Given the description of an element on the screen output the (x, y) to click on. 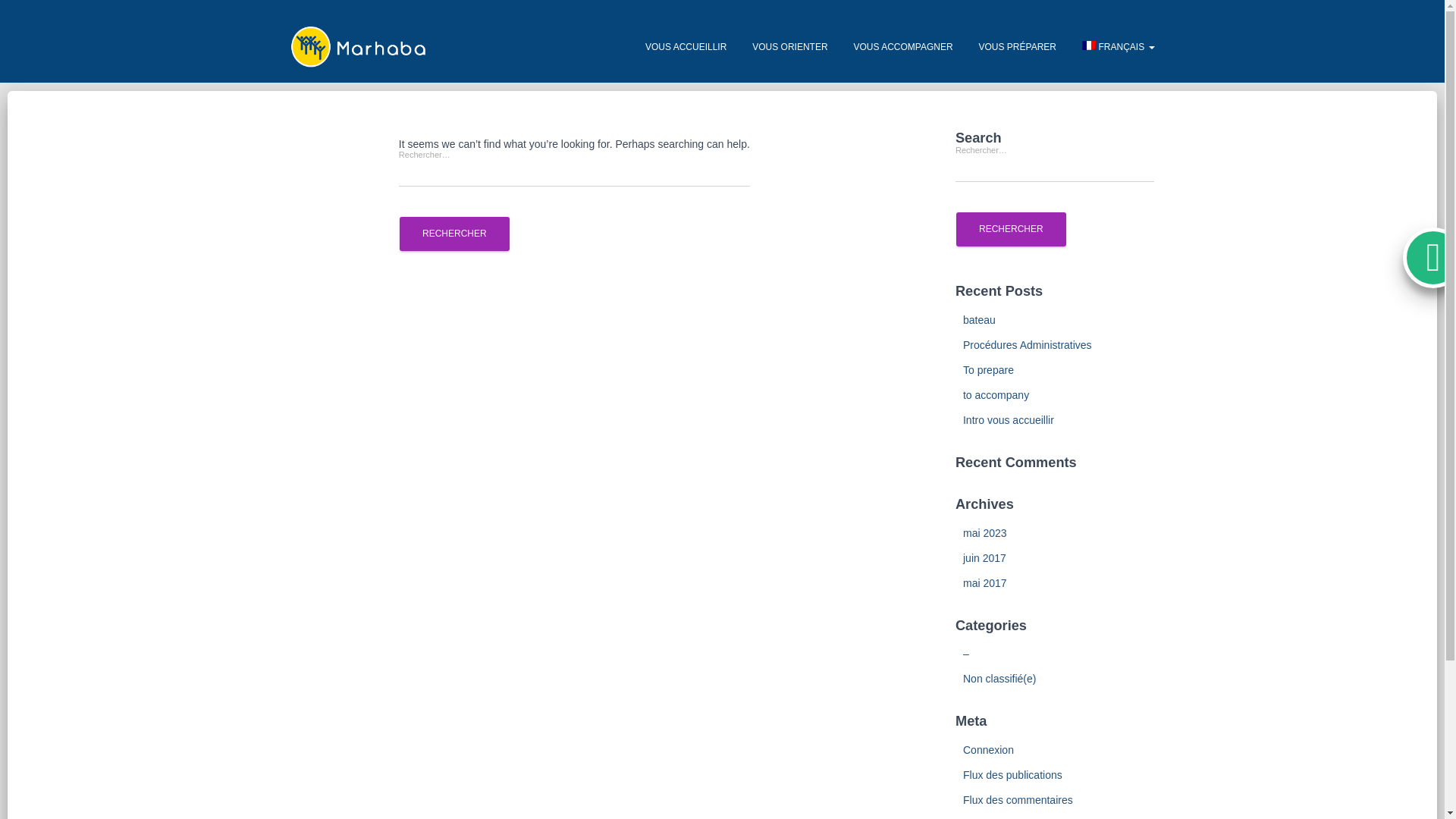
Vous accueillir (685, 46)
VOUS ACCUEILLIR (685, 46)
Rechercher (1010, 229)
to accompany (995, 395)
To prepare (987, 369)
Connexion (987, 749)
Rechercher (453, 233)
Rechercher (453, 233)
mai 2017 (984, 582)
Flux des publications (1012, 775)
Rechercher (453, 233)
MARHABA (358, 46)
Rechercher (1010, 229)
Rechercher (1010, 229)
Flux des commentaires (1017, 799)
